Given the description of an element on the screen output the (x, y) to click on. 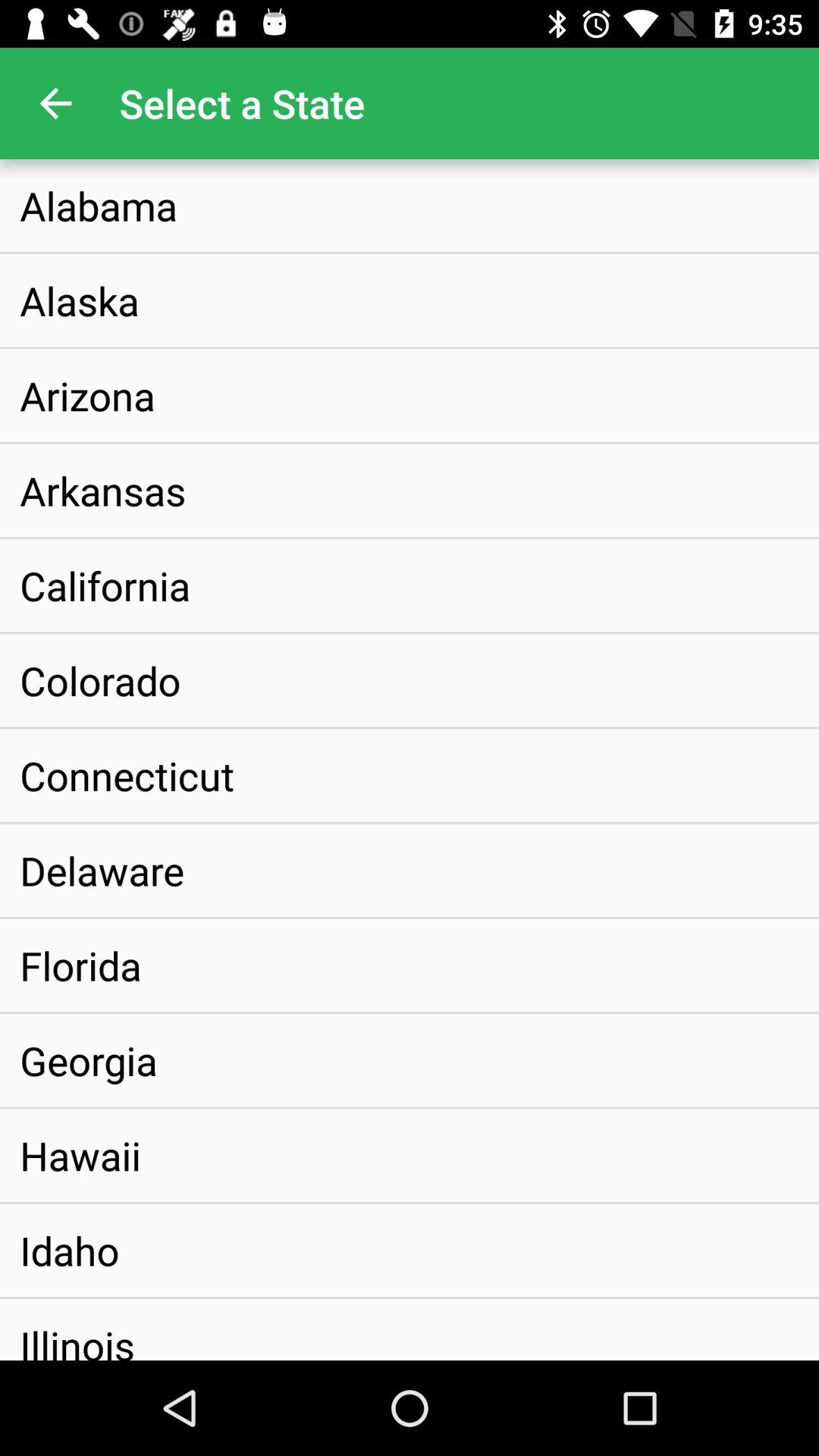
turn on icon above alabama (55, 103)
